Given the description of an element on the screen output the (x, y) to click on. 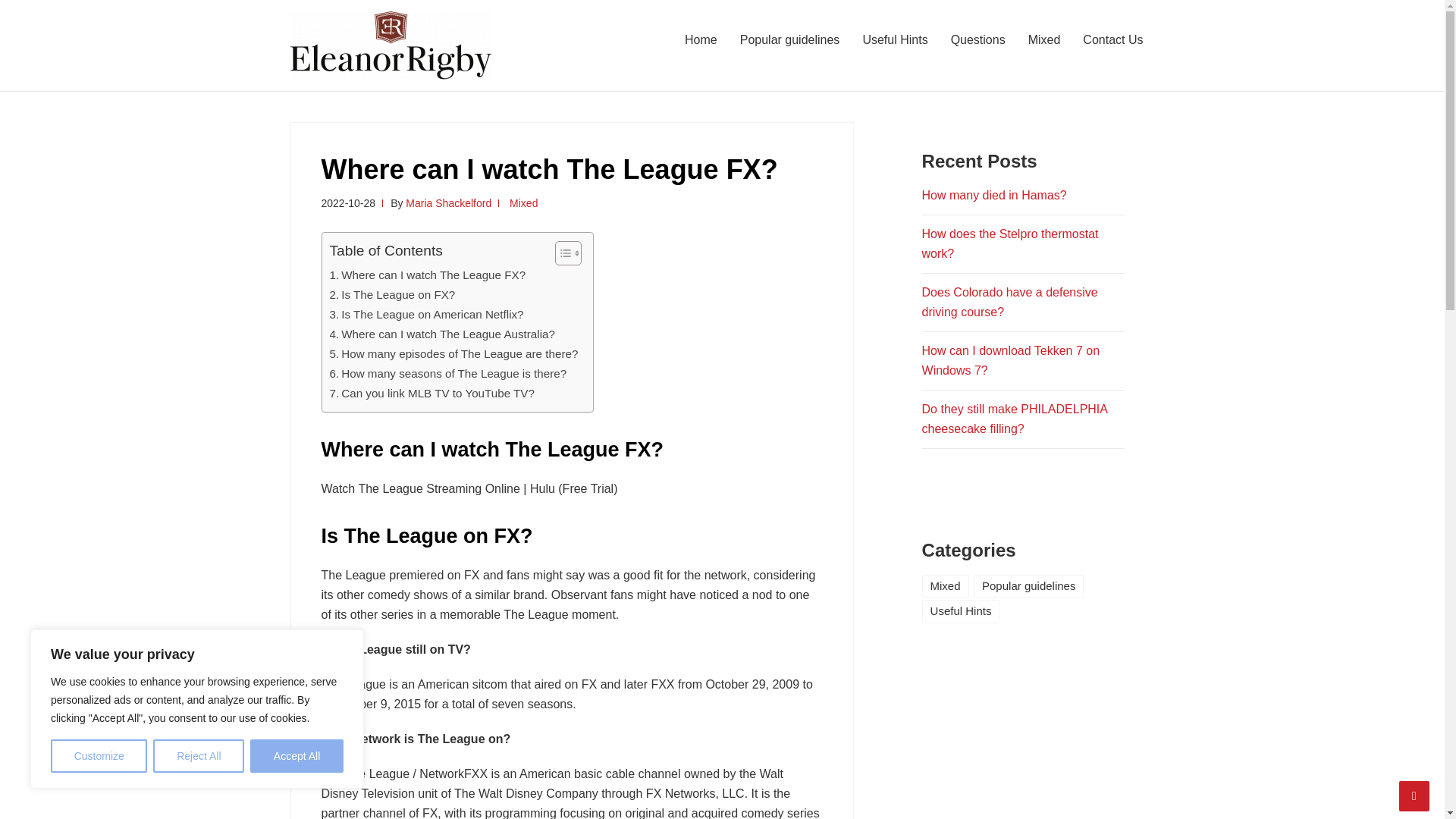
How many seasons of The League is there? (447, 373)
How many seasons of The League is there? (447, 373)
Mixed (1043, 39)
Reject All (198, 756)
Where can I watch The League Australia? (441, 334)
Where can I watch The League FX? (427, 275)
Accept All (296, 756)
Mixed (523, 203)
Popular guidelines (790, 39)
How many episodes of The League are there? (453, 353)
How many episodes of The League are there? (453, 353)
Useful Hints (894, 39)
Can you link MLB TV to YouTube TV? (431, 393)
View all posts by Maria Shackelford (449, 203)
Is The League on FX? (391, 294)
